Given the description of an element on the screen output the (x, y) to click on. 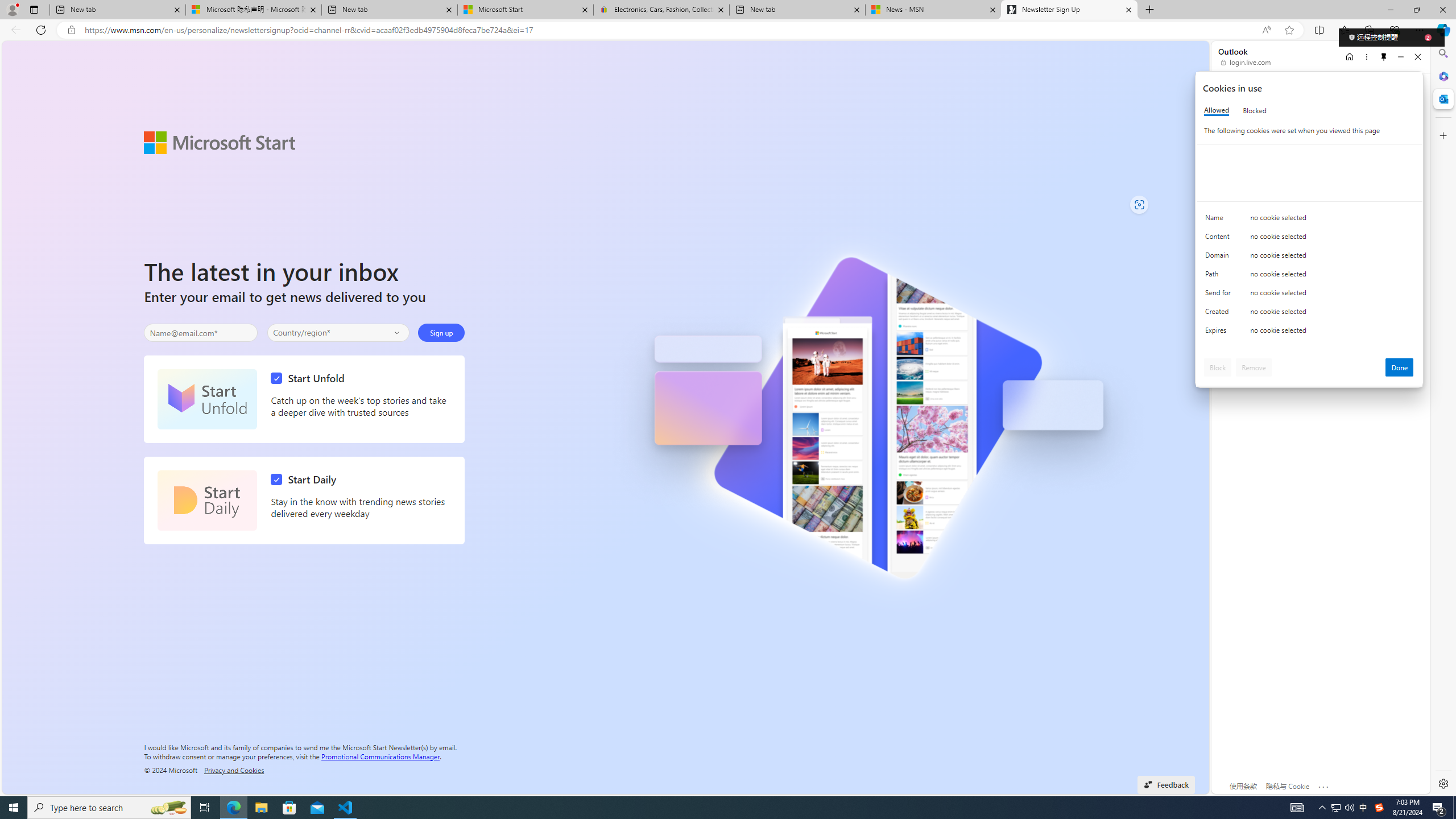
Allowed (1216, 110)
Blocked (1255, 110)
Enter your email (200, 332)
Start Daily (207, 500)
